Given the description of an element on the screen output the (x, y) to click on. 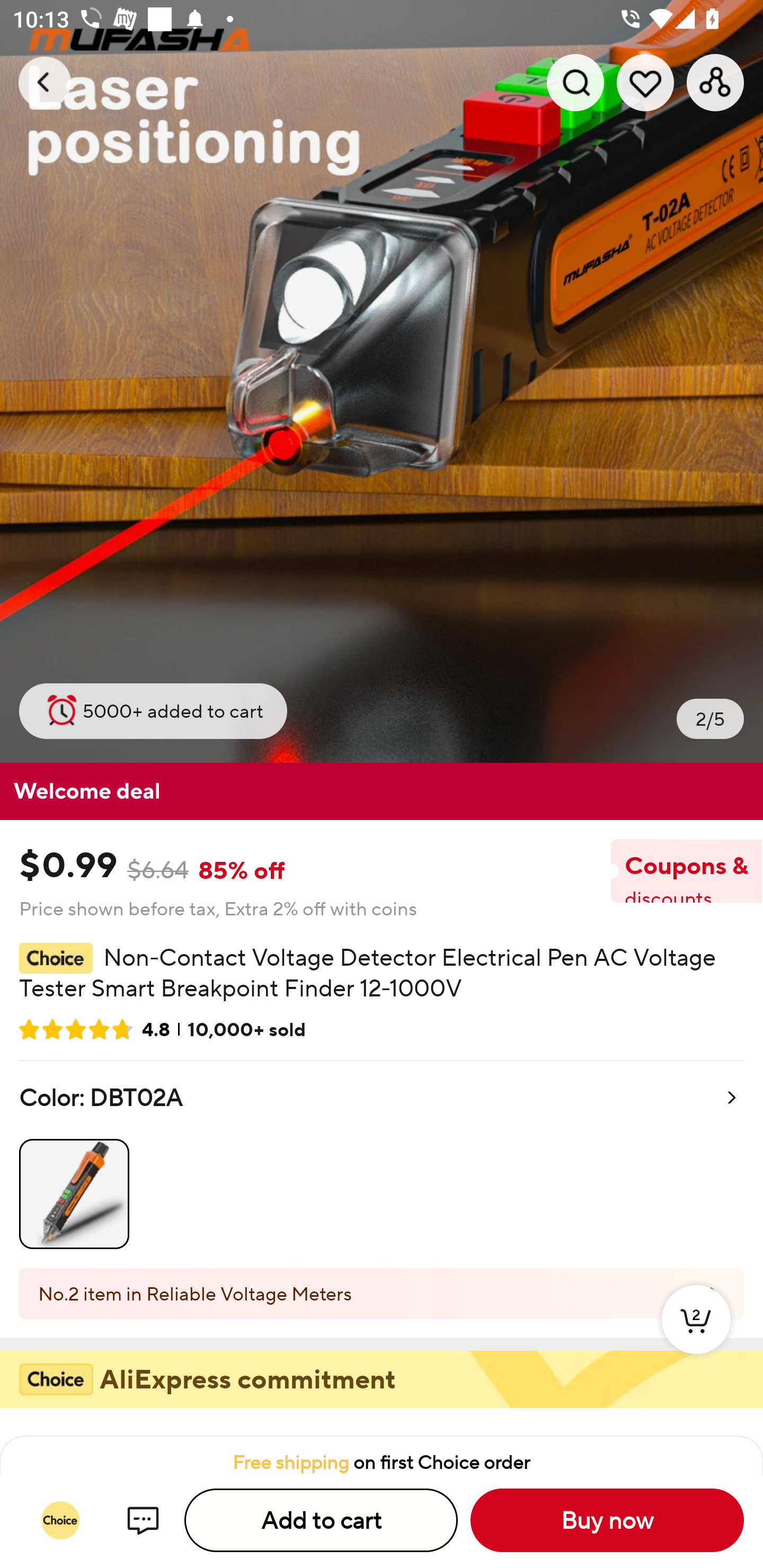
Navigate up (44, 82)
Color: DBT02A  (381, 1164)
2 (695, 1338)
Add to cart (320, 1520)
Buy now (606, 1520)
